Given the description of an element on the screen output the (x, y) to click on. 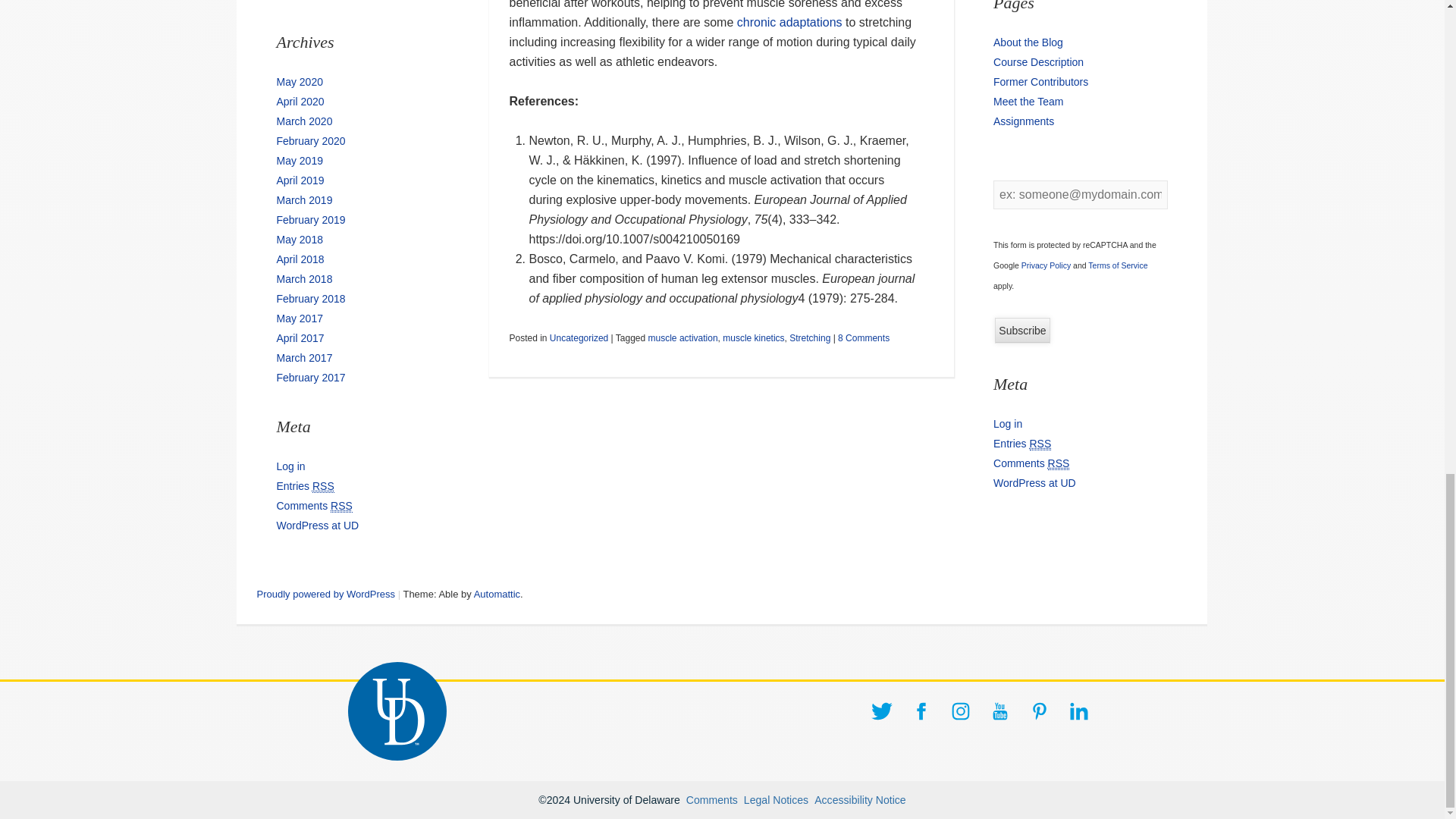
Really Simple Syndication (1040, 443)
muscle activation (682, 337)
Really Simple Syndication (323, 486)
8 Comments (863, 337)
Stretching (809, 337)
Syndicate this site using RSS 2.0 (1021, 443)
The latest comments to all posts in RSS (1030, 463)
Powered by WordPress at UD (317, 525)
Really Simple Syndication (341, 505)
chronic adaptations (789, 21)
Subscribe (1021, 330)
Powered by WordPress at UD (1033, 482)
Uncategorized (579, 337)
A Semantic Personal Publishing Platform (325, 593)
Syndicate this site using RSS 2.0 (304, 486)
